Given the description of an element on the screen output the (x, y) to click on. 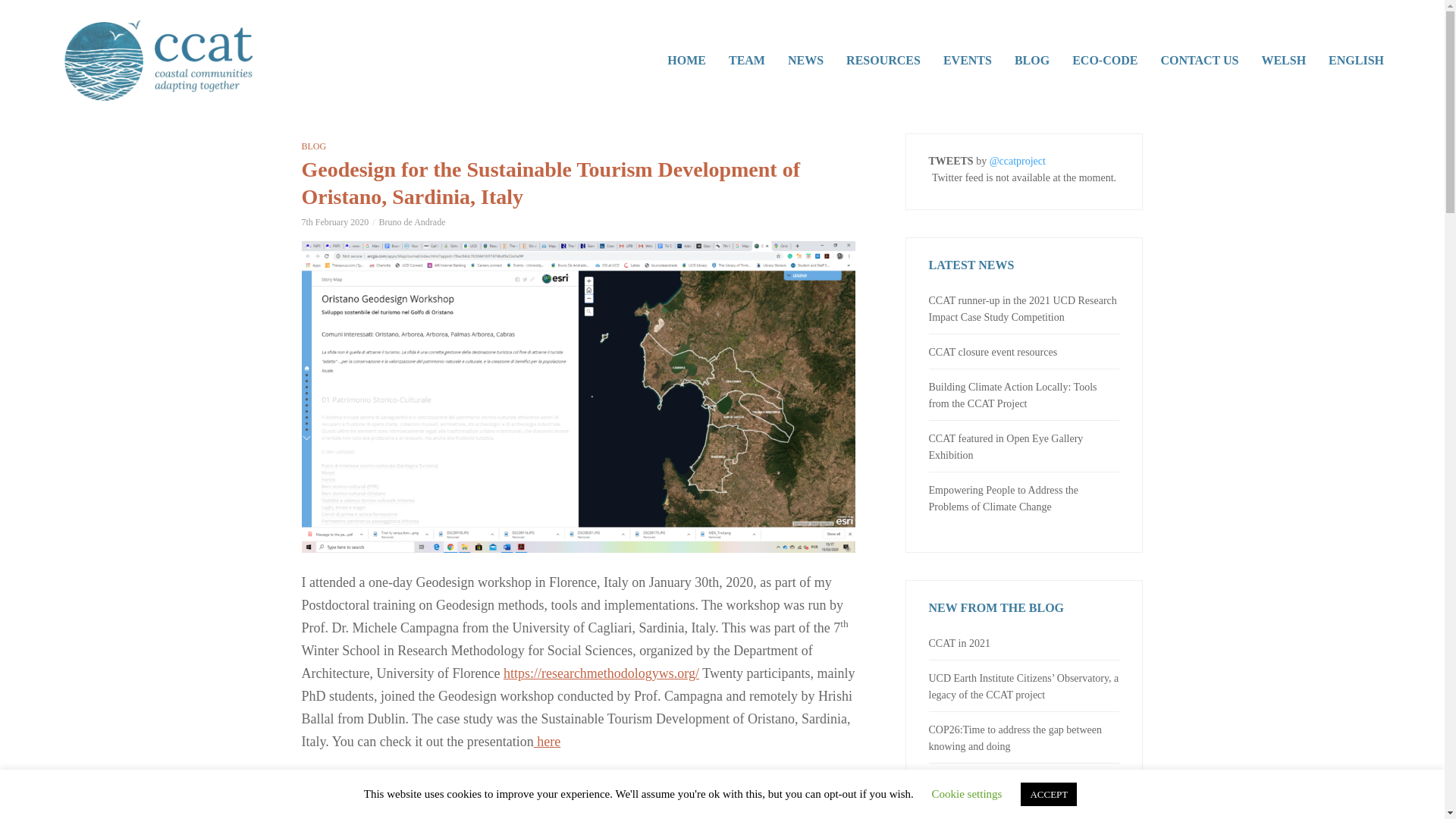
TEAM (746, 60)
BLOG (313, 145)
Bruno de Andrade (411, 222)
EVENTS (967, 60)
CONTACT US (1198, 60)
BLOG (1032, 60)
WELSH (1283, 60)
ECO-CODE (1104, 60)
ENGLISH (1355, 60)
HOME (686, 60)
RESOURCES (882, 60)
NEWS (805, 60)
